Given the description of an element on the screen output the (x, y) to click on. 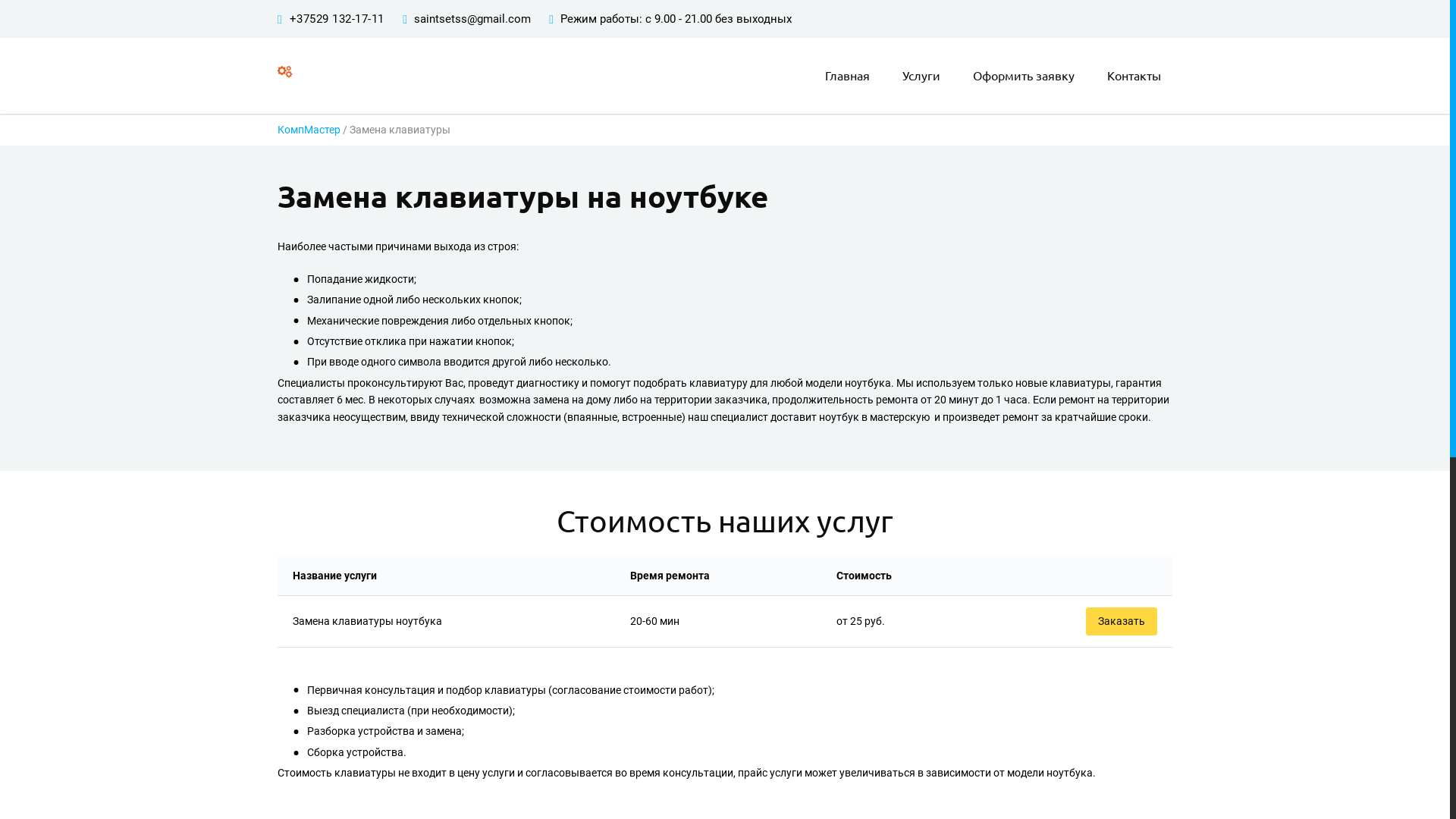
saintsetss@gmail.com Element type: text (472, 18)
